Given the description of an element on the screen output the (x, y) to click on. 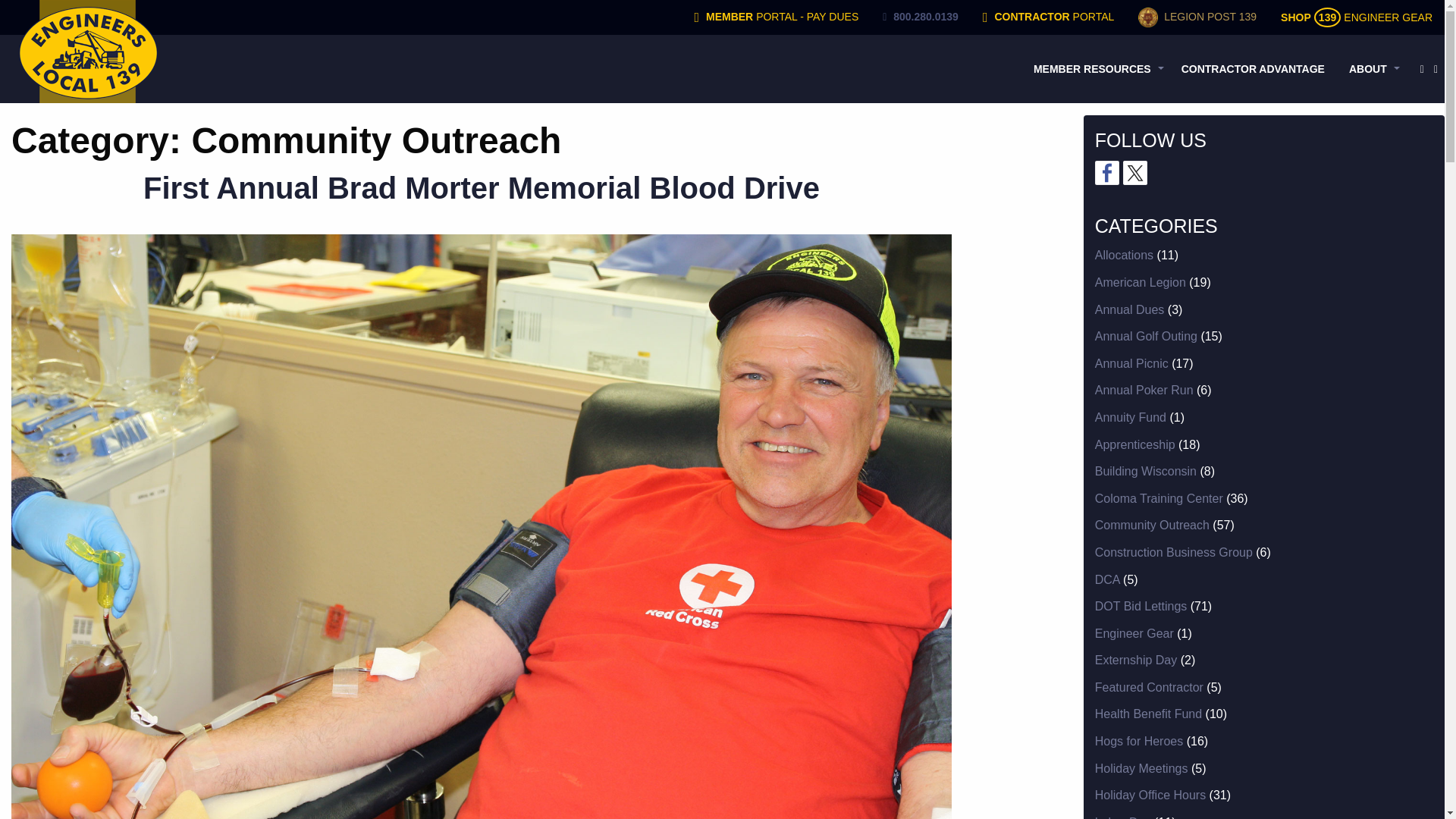
LEGION POST 139 (1196, 17)
MEMBER PORTAL - PAY DUES (776, 17)
800.280.0139 (920, 17)
First Annual Brad Morter Memorial Blood Drive (480, 187)
Follow us on Facebook (1106, 172)
MEMBER RESOURCES (1095, 68)
CONTRACTOR PORTAL (1048, 17)
